Given the description of an element on the screen output the (x, y) to click on. 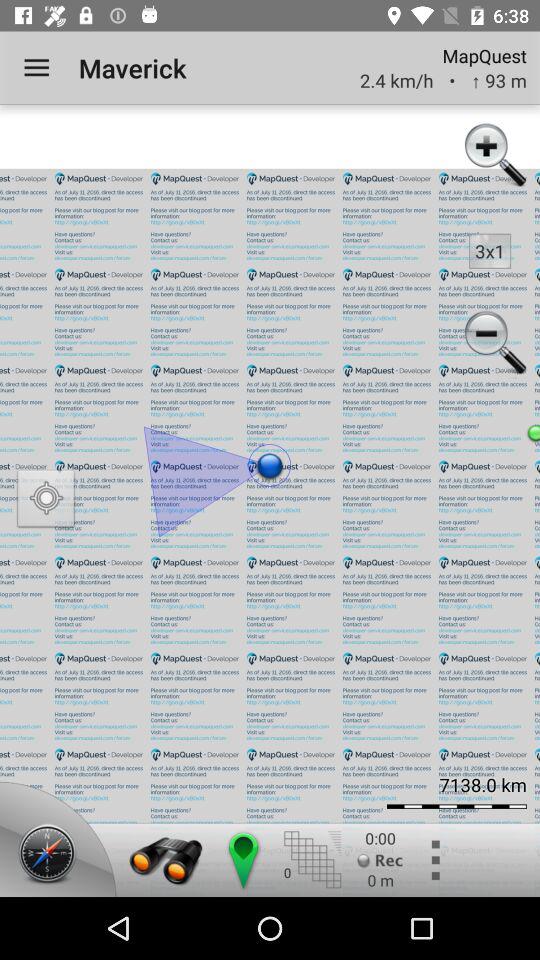
view more options (434, 860)
